Given the description of an element on the screen output the (x, y) to click on. 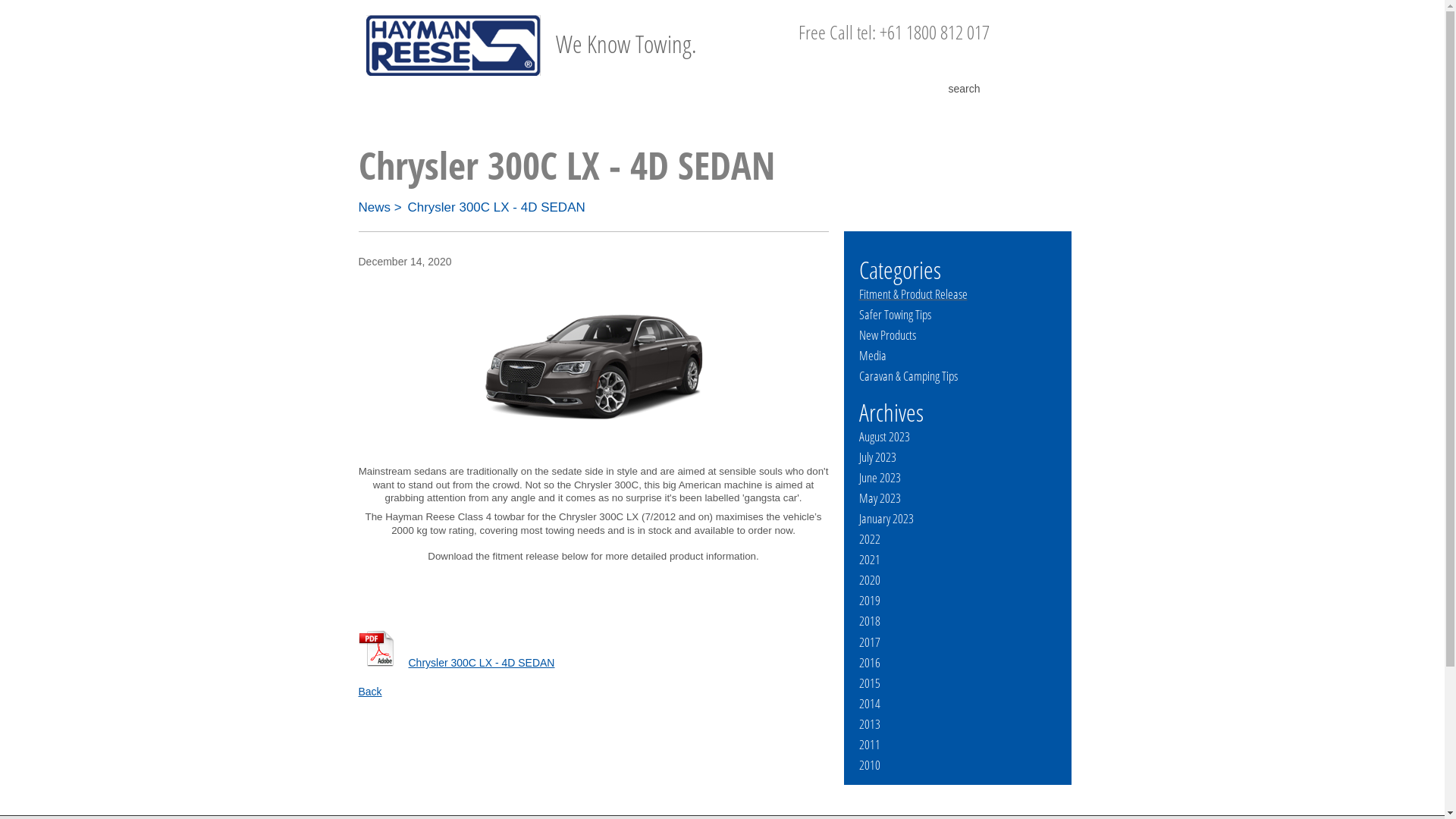
Stockists Element type: text (721, 111)
August 2023 Element type: text (883, 436)
We Know Towing. Element type: text (562, 41)
Fitment & Product Release Element type: text (912, 293)
About Us Element type: text (867, 111)
May 2023 Element type: text (879, 497)
2017 Element type: text (868, 640)
2014 Element type: text (868, 703)
2022 Element type: text (868, 538)
2021 Element type: text (868, 558)
Safer Towing Tips Element type: text (894, 314)
Back Element type: text (369, 691)
January 2023 Element type: text (885, 518)
Contact Us Element type: text (1013, 111)
2018 Element type: text (868, 620)
2011 Element type: text (868, 744)
2013 Element type: text (868, 723)
New Products Element type: text (886, 334)
Media Element type: text (871, 355)
2015 Element type: text (868, 682)
Products Element type: text (576, 111)
Caravan & Camping Tips Element type: text (907, 375)
Chrysler 300C LX - 4D SEDAN Element type: text (455, 662)
2020 Element type: text (868, 579)
June 2023 Element type: text (879, 477)
2010 Element type: text (868, 764)
REQUEST A QUOTE Element type: text (1043, 31)
Chrysler 300C LX - 4D SEDAN Element type: text (495, 207)
News > Element type: text (379, 207)
2016 Element type: text (868, 662)
Find Towbar Element type: text (430, 111)
Free Call tel: +61 1800 812 017 Element type: text (892, 31)
2019 Element type: text (868, 599)
July 2023 Element type: text (876, 456)
